Given the description of an element on the screen output the (x, y) to click on. 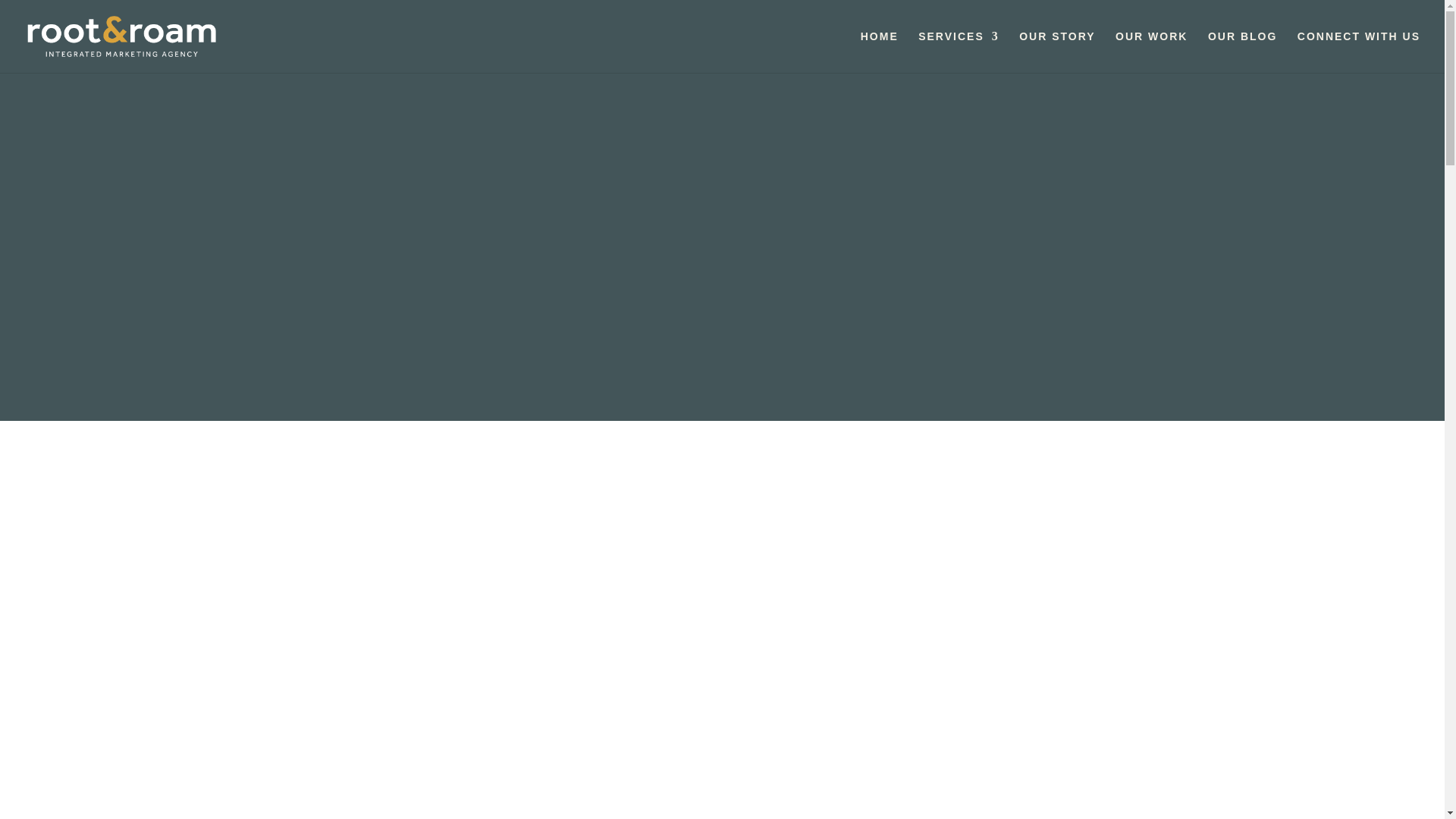
OUR BLOG (1242, 51)
SERVICES (958, 51)
HOME (879, 51)
CONNECT WITH US (1359, 51)
OUR WORK (1151, 51)
OUR STORY (1056, 51)
